Given the description of an element on the screen output the (x, y) to click on. 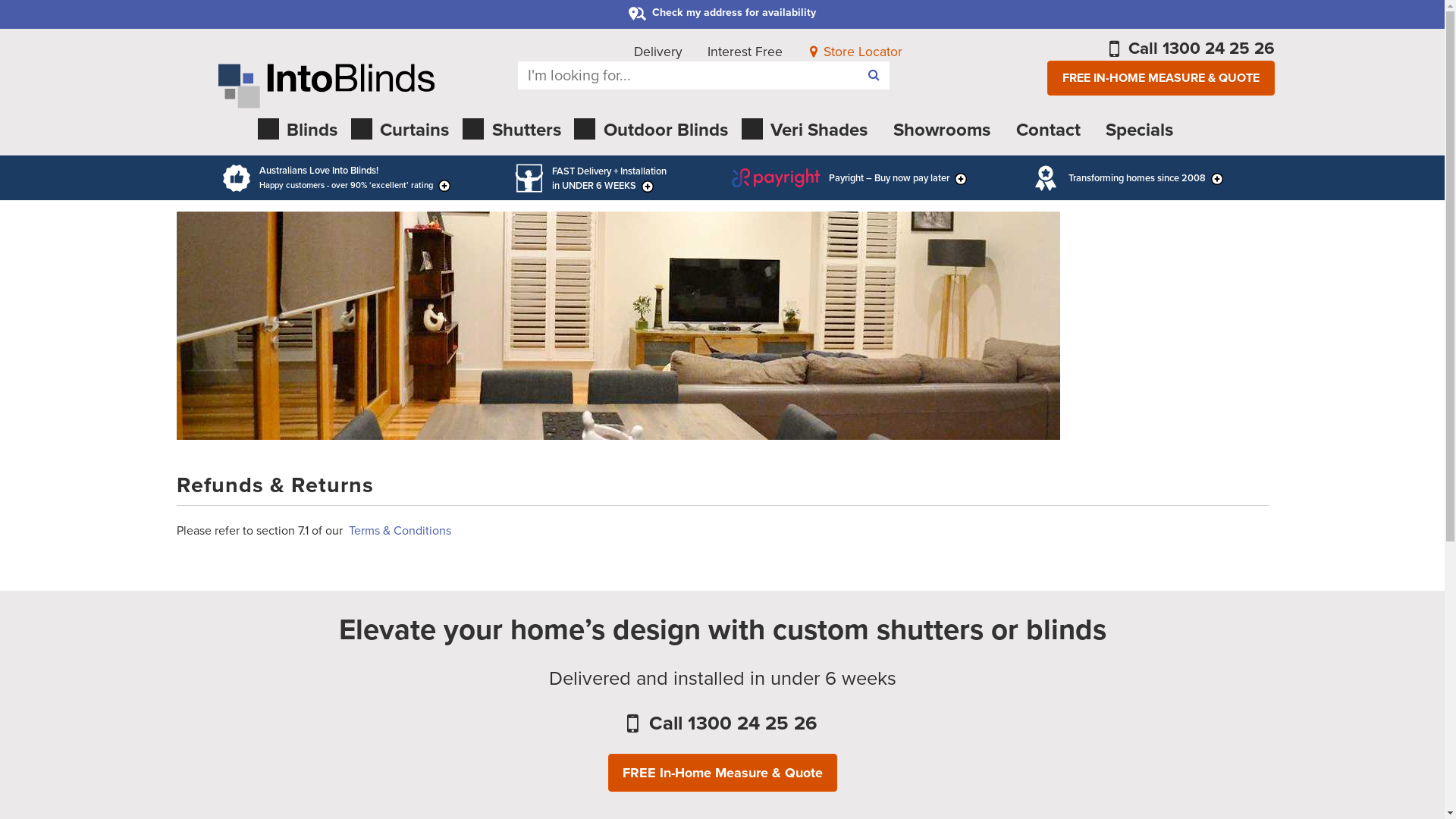
  Check my address for availability Element type: text (721, 12)
FREE In-Home Measure & Quote Element type: text (722, 772)
Shutters Element type: text (516, 131)
Outdoor Blinds Element type: text (655, 131)
Blinds Element type: text (302, 131)
  Call 1300 24 25 26 Element type: text (721, 723)
Home Element type: hover (326, 85)
  Call 1300 24 25 26 Element type: text (1191, 47)
Interest Free Element type: text (744, 51)
Showrooms Element type: text (940, 131)
Veri Shades Element type: text (809, 131)
Store Locator Element type: text (854, 51)
Delivery Element type: text (658, 51)
Transforming homes since 2008 Element type: text (1126, 178)
Terms & Conditions Element type: text (399, 530)
Specials Element type: text (1138, 131)
Contact Element type: text (1047, 131)
Curtains Element type: text (404, 131)
FAST Delivery + Installation
in UNDER 6 WEEKS Element type: text (589, 178)
FREE IN-HOME MEASURE & QUOTE Element type: text (1160, 78)
